Given the description of an element on the screen output the (x, y) to click on. 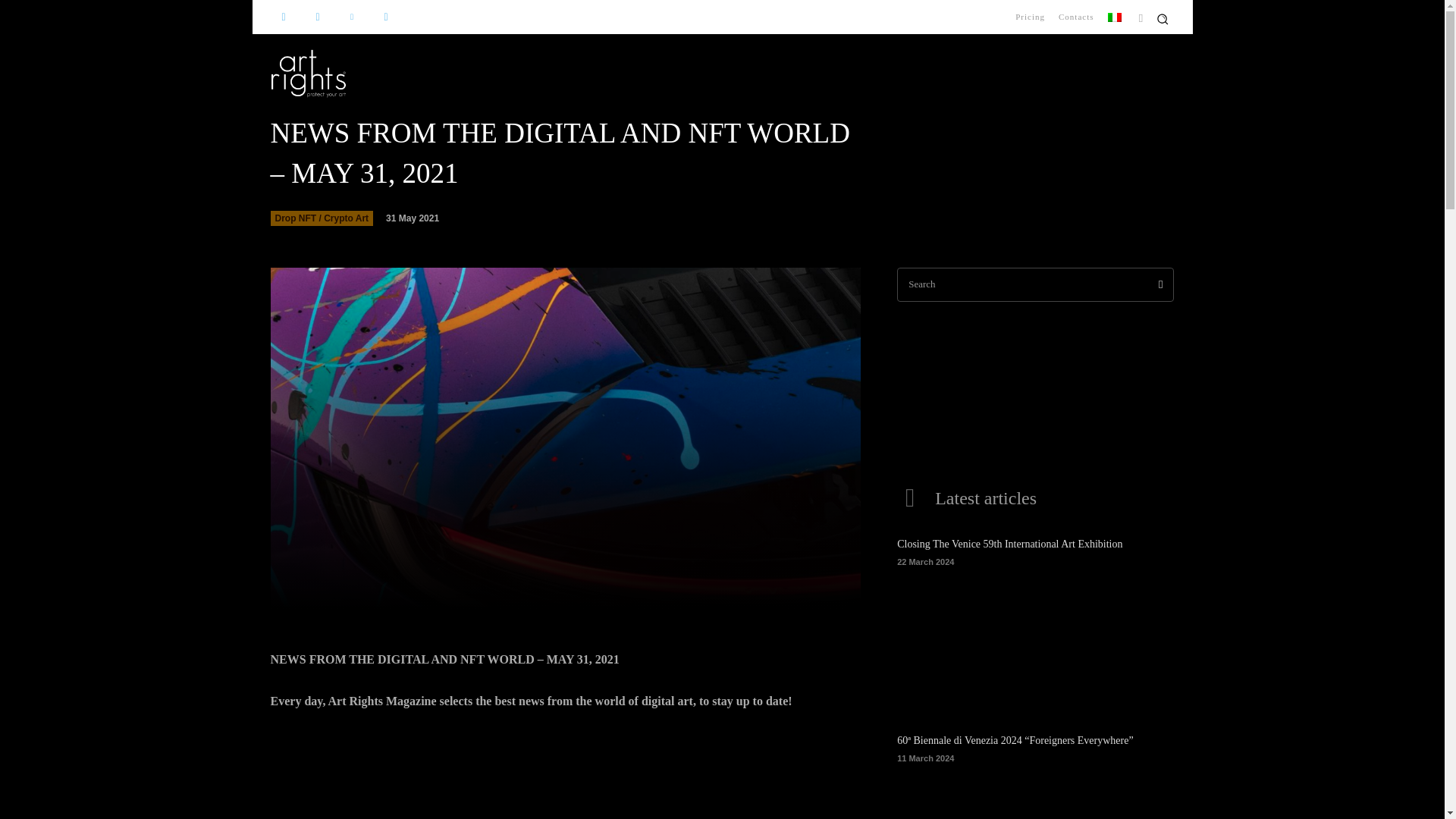
Pricing (1030, 16)
Spotify (385, 17)
Linkedin (351, 17)
Facebook (283, 17)
Contacts (1075, 16)
Instagram (317, 17)
